Given the description of an element on the screen output the (x, y) to click on. 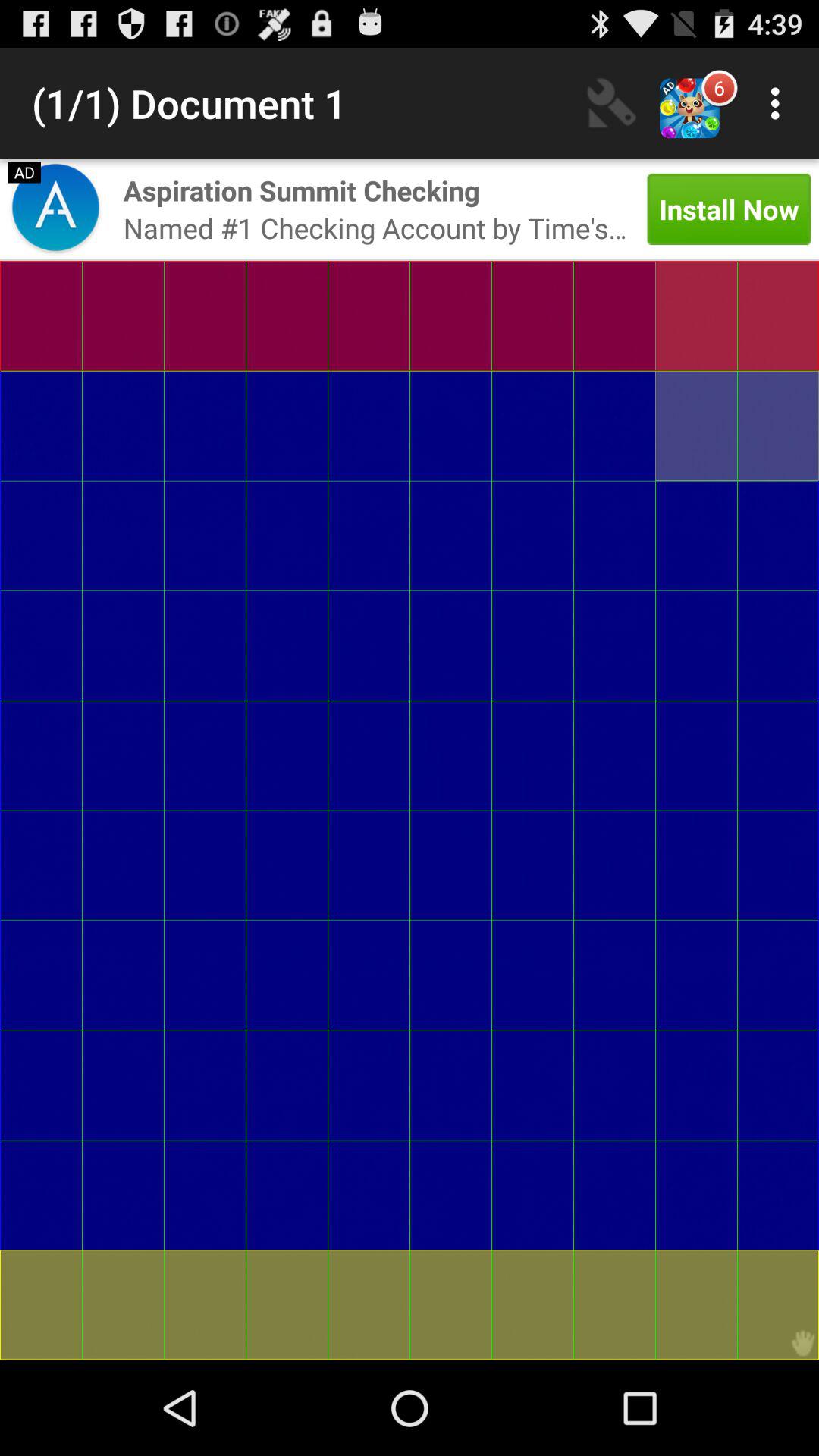
open item to the left of the install now item (375, 227)
